Given the description of an element on the screen output the (x, y) to click on. 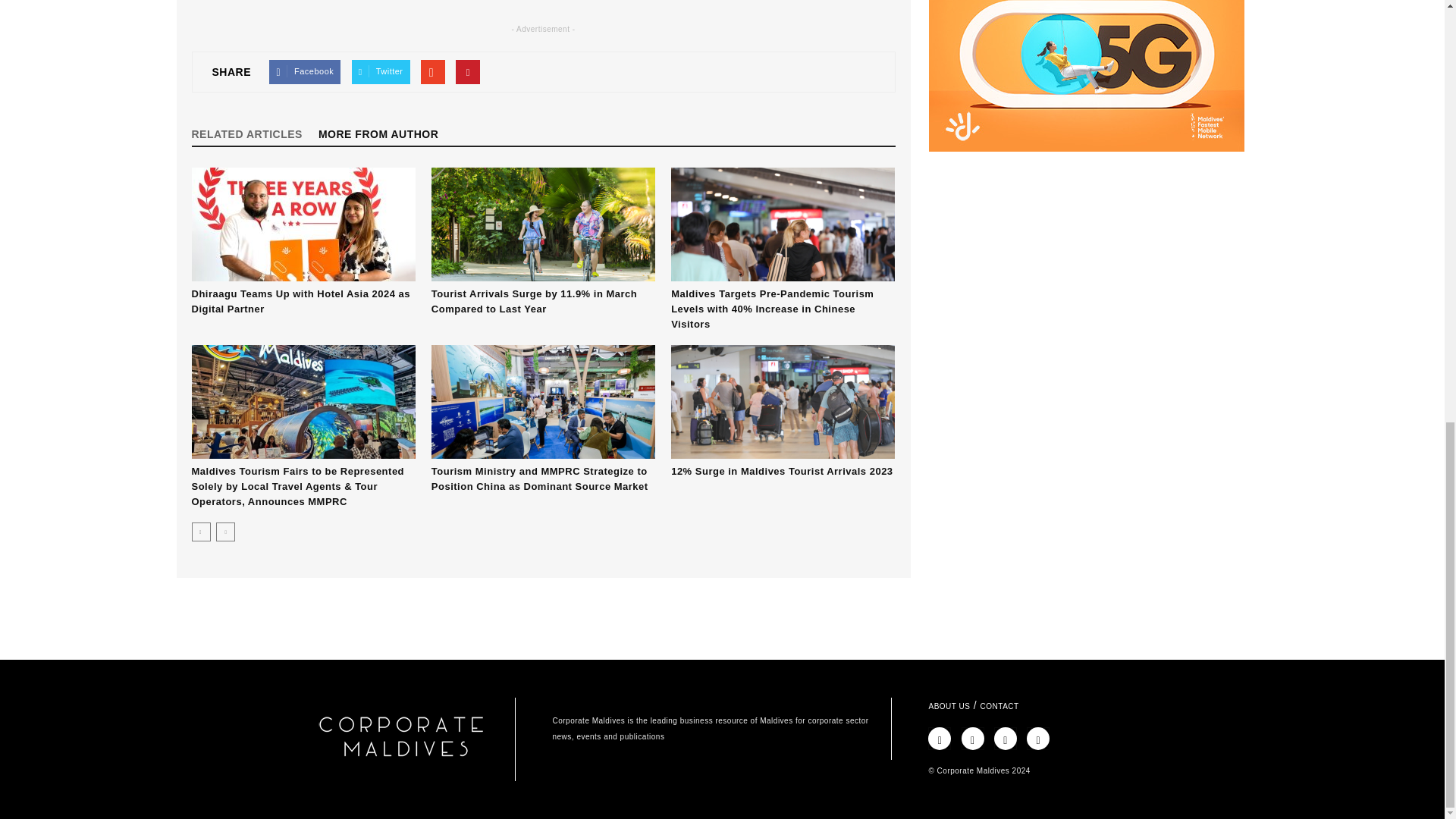
Twitter (381, 71)
Facebook (304, 71)
Dhiraagu Teams Up with Hotel Asia 2024 as Digital Partner (300, 301)
Dhiraagu Teams Up with Hotel Asia 2024 as Digital Partner (302, 224)
